Given the description of an element on the screen output the (x, y) to click on. 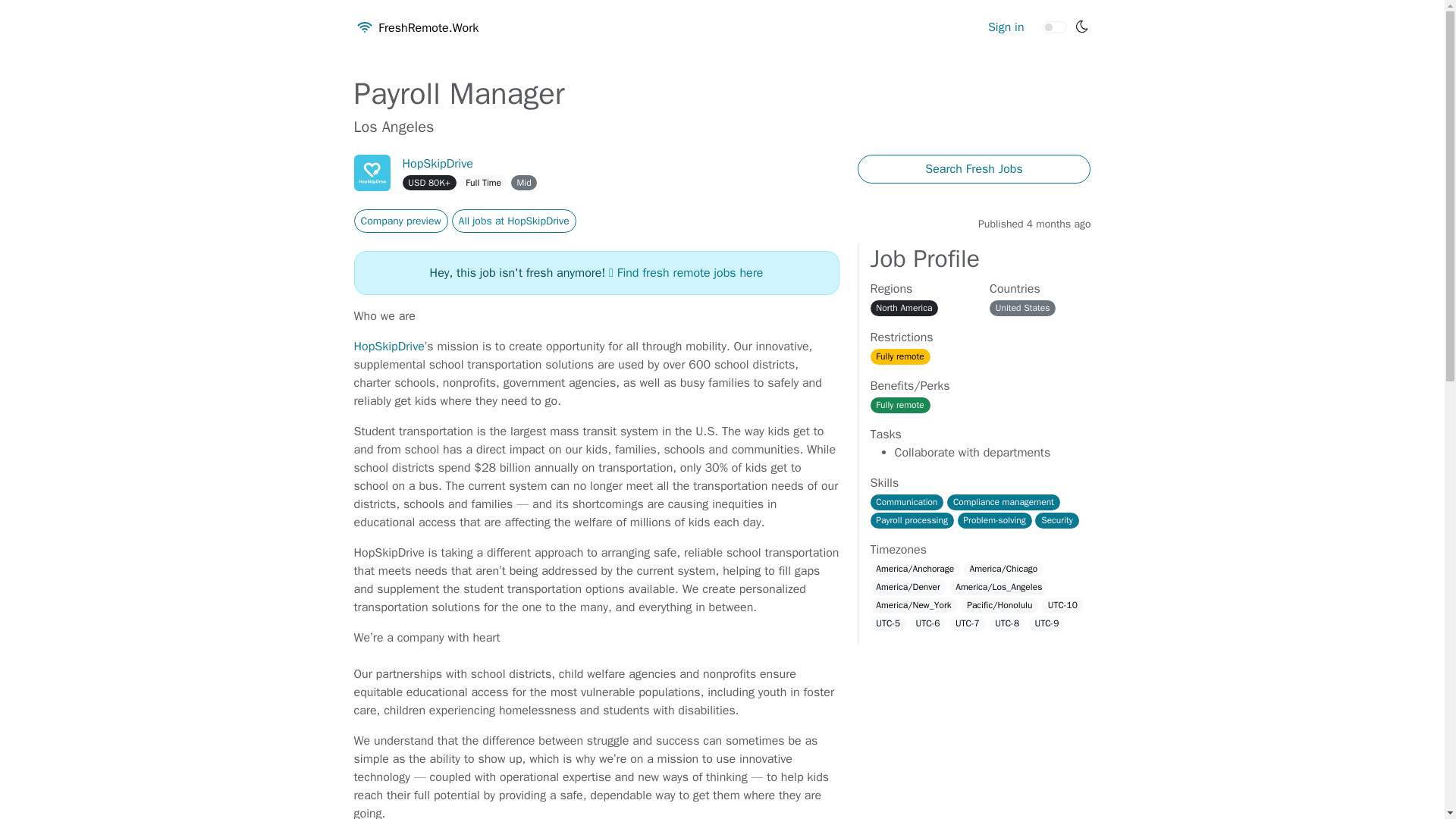
on (1053, 27)
Payroll processing (911, 519)
Problem-solving (995, 519)
UTC-6 (928, 622)
Compliance management (1003, 501)
Sign in (1006, 28)
UTC-5 (888, 622)
United States (1022, 307)
Mid (524, 182)
Company preview (399, 220)
